Given the description of an element on the screen output the (x, y) to click on. 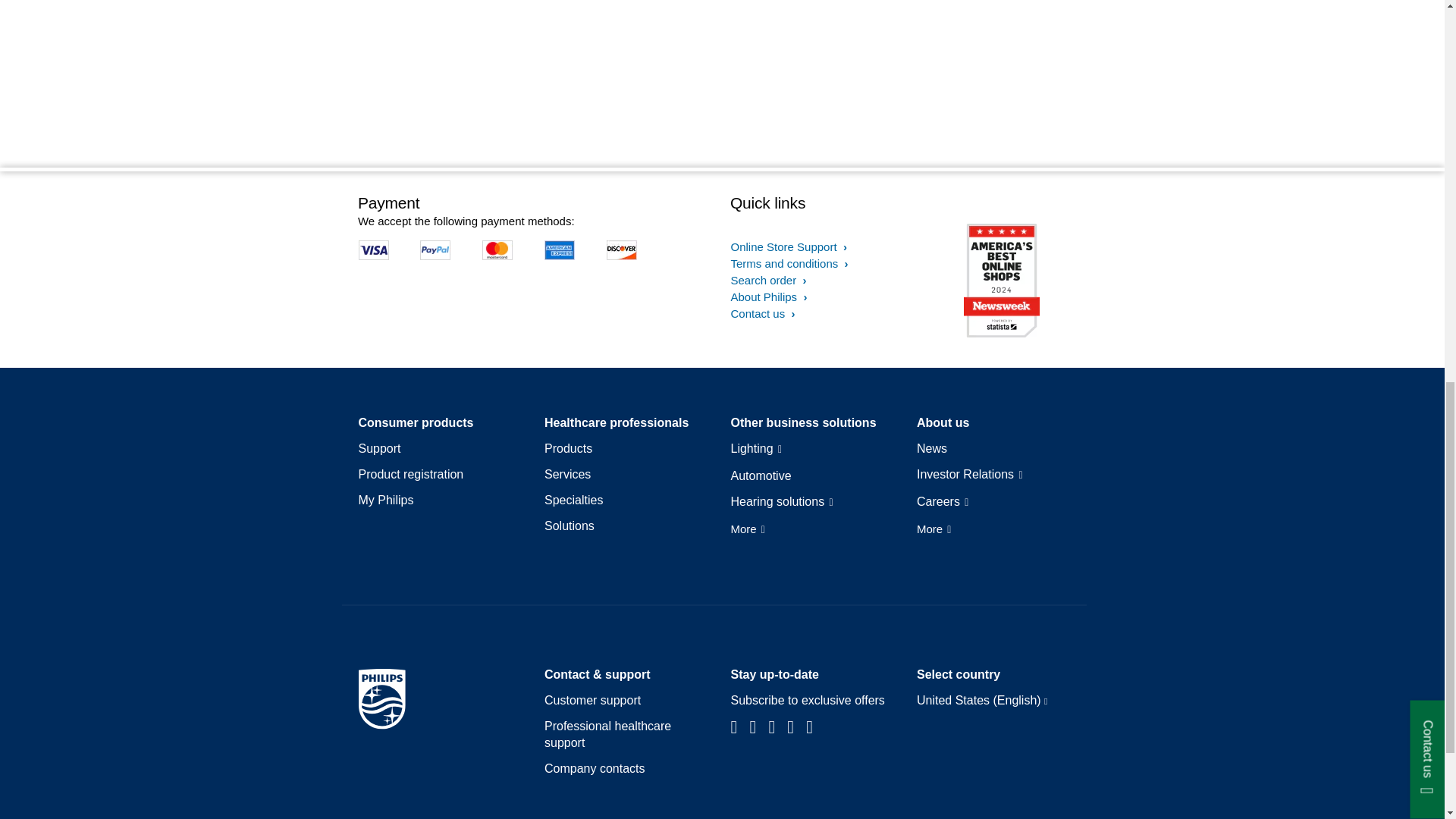
Product registration (410, 474)
Healthcare professionals (616, 422)
Consumer products (415, 422)
Support (379, 448)
My Philips (385, 500)
